Given the description of an element on the screen output the (x, y) to click on. 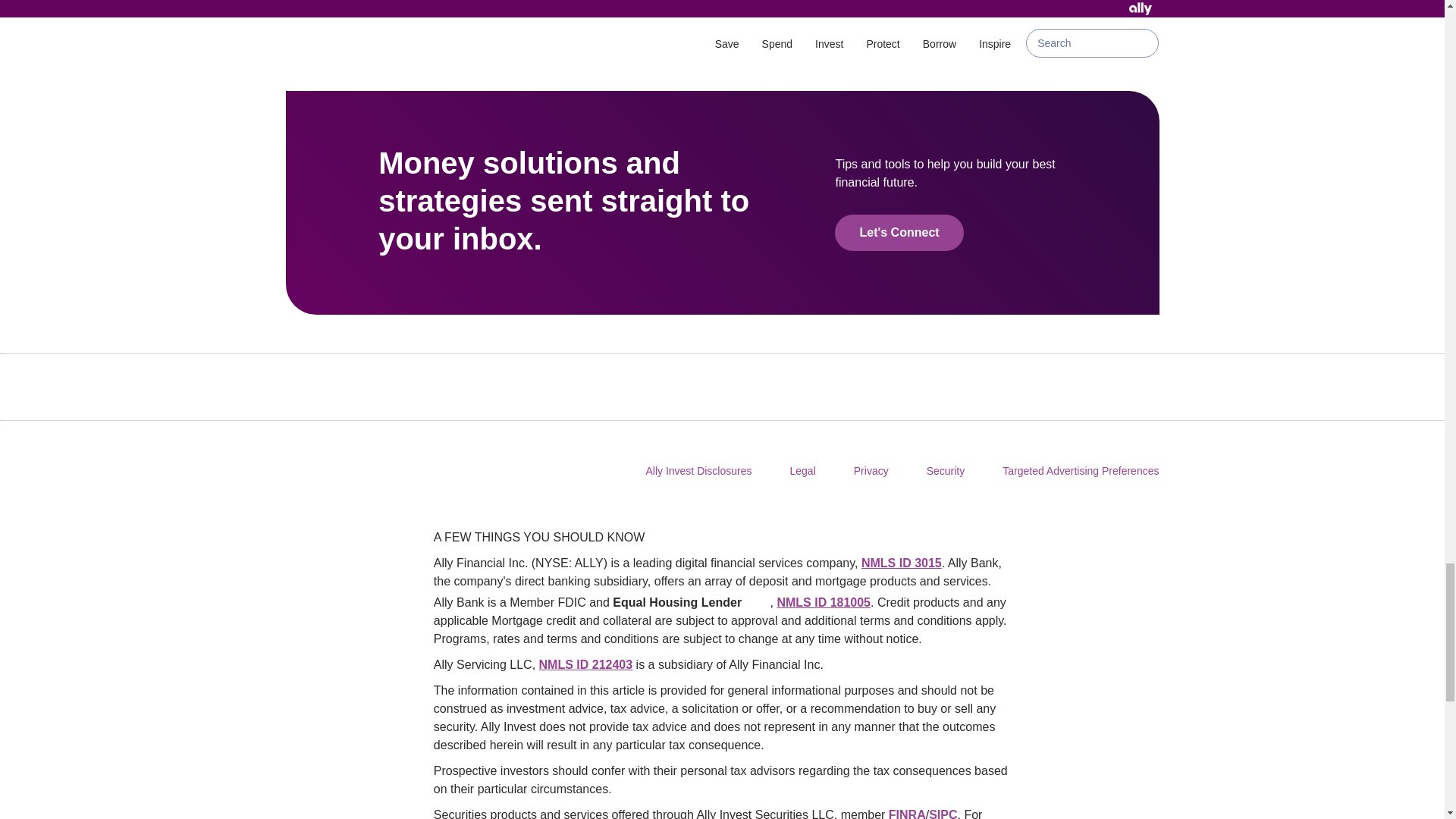
Legal (802, 470)
Security (945, 470)
Ally Invest Disclosures (698, 470)
Let's Connect (898, 232)
Privacy (870, 470)
